Given the description of an element on the screen output the (x, y) to click on. 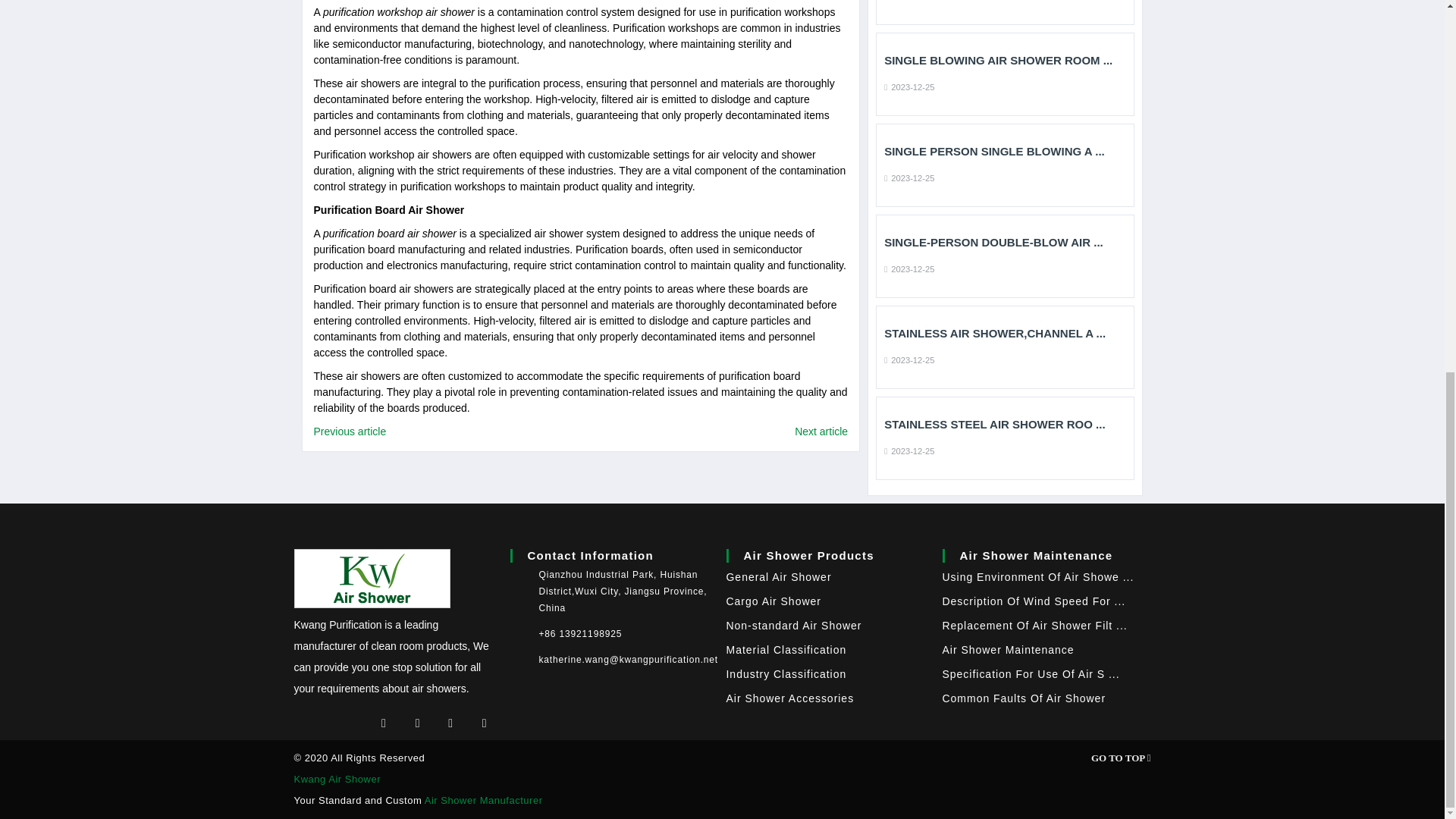
2023-12-25 (908, 450)
STAINLESS STEEL AIR SHOWER ROO ... (1004, 424)
General Air Shower (778, 576)
Cargo Air Shower (773, 601)
STAINLESS AIR SHOWER,CHANNEL A ... (1004, 333)
Air Shower Accessories (790, 698)
Non-standard Air Shower (793, 625)
Description Of Wind Speed For Air Shower (1033, 601)
2023-12-25 (908, 177)
Replacement Of Air Shower Filter (1034, 625)
Industry Classification (786, 674)
Common Faults Of Air Shower (1023, 698)
SINGLE-PERSON DOUBLE-BLOW AIR ... (1004, 242)
Using Environment Of Air Shower (1038, 576)
Specification For Use Of Air Shower (1030, 674)
